Given the description of an element on the screen output the (x, y) to click on. 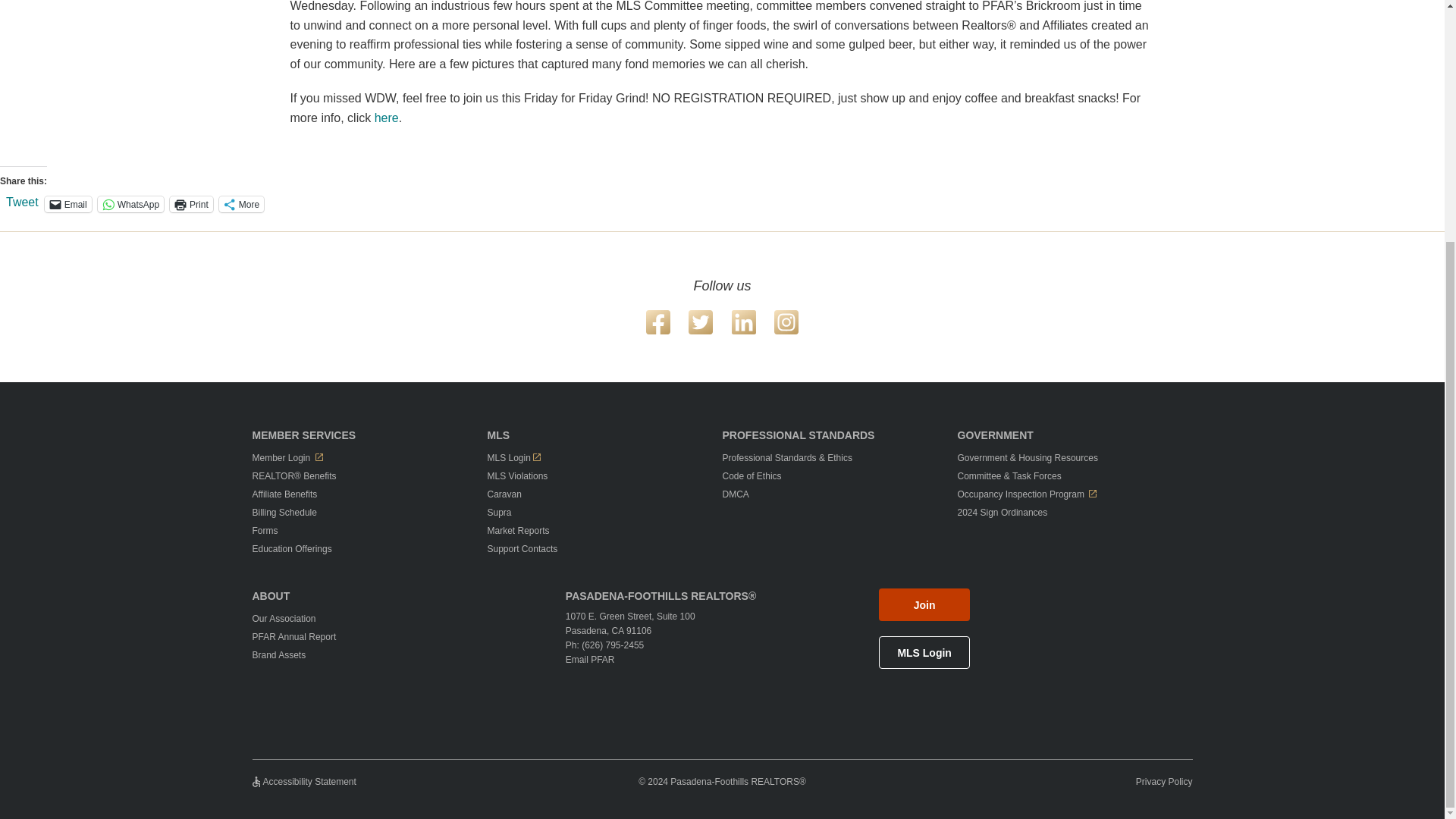
Click to print (191, 204)
Click to share on WhatsApp (130, 204)
Click to email a link to a friend (68, 204)
